Given the description of an element on the screen output the (x, y) to click on. 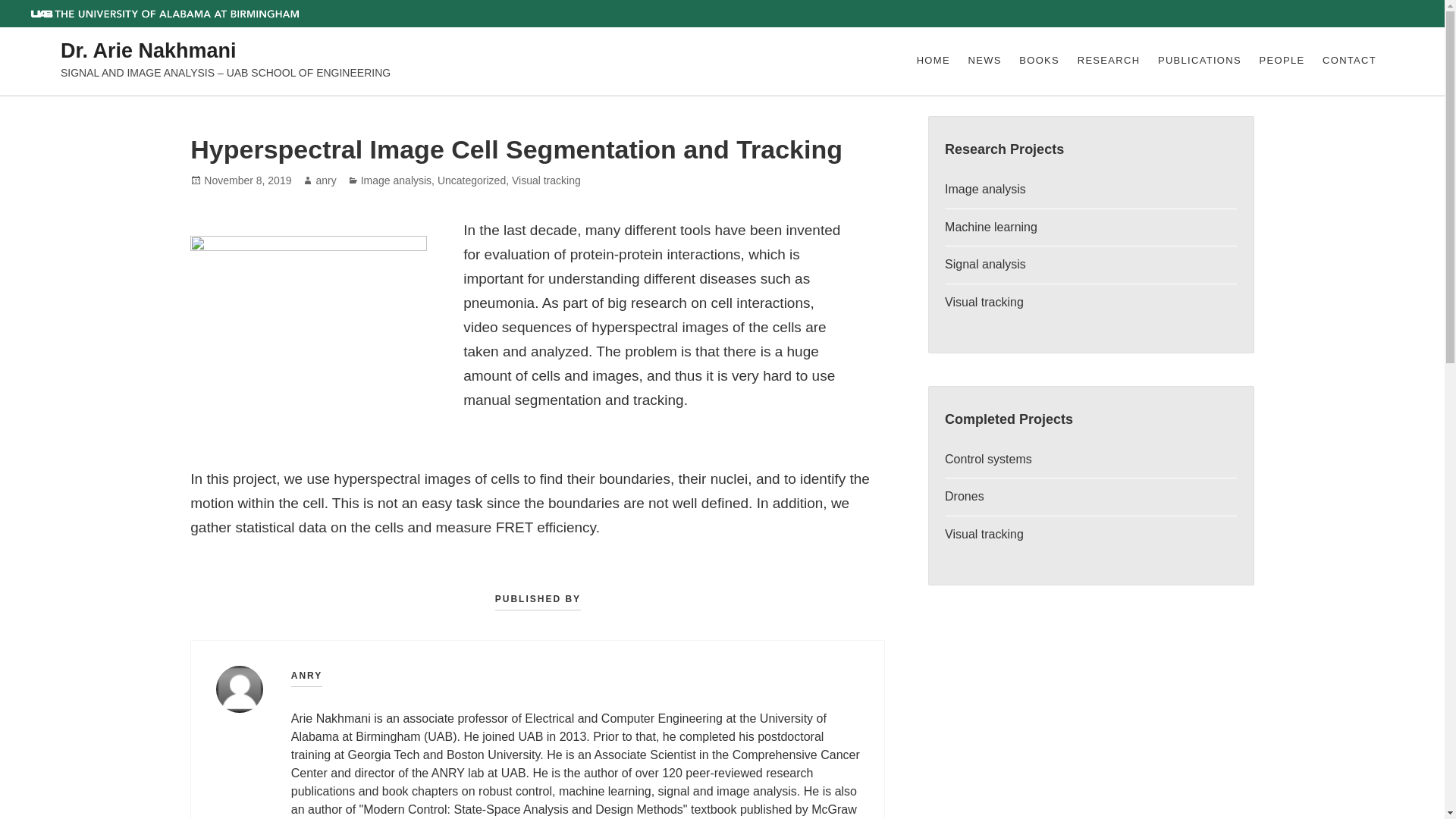
NEWS (984, 61)
Machine learning (990, 226)
RESEARCH (1108, 61)
Control systems (988, 459)
Visual tracking (983, 533)
Dr. Arie Nakhmani (148, 51)
PEOPLE (1281, 61)
Signal analysis (985, 264)
November 8, 2019 (247, 180)
Image analysis (395, 180)
HOME (933, 61)
Visual tracking (983, 301)
Drones (964, 495)
Image analysis (985, 188)
Uncategorized (471, 180)
